Given the description of an element on the screen output the (x, y) to click on. 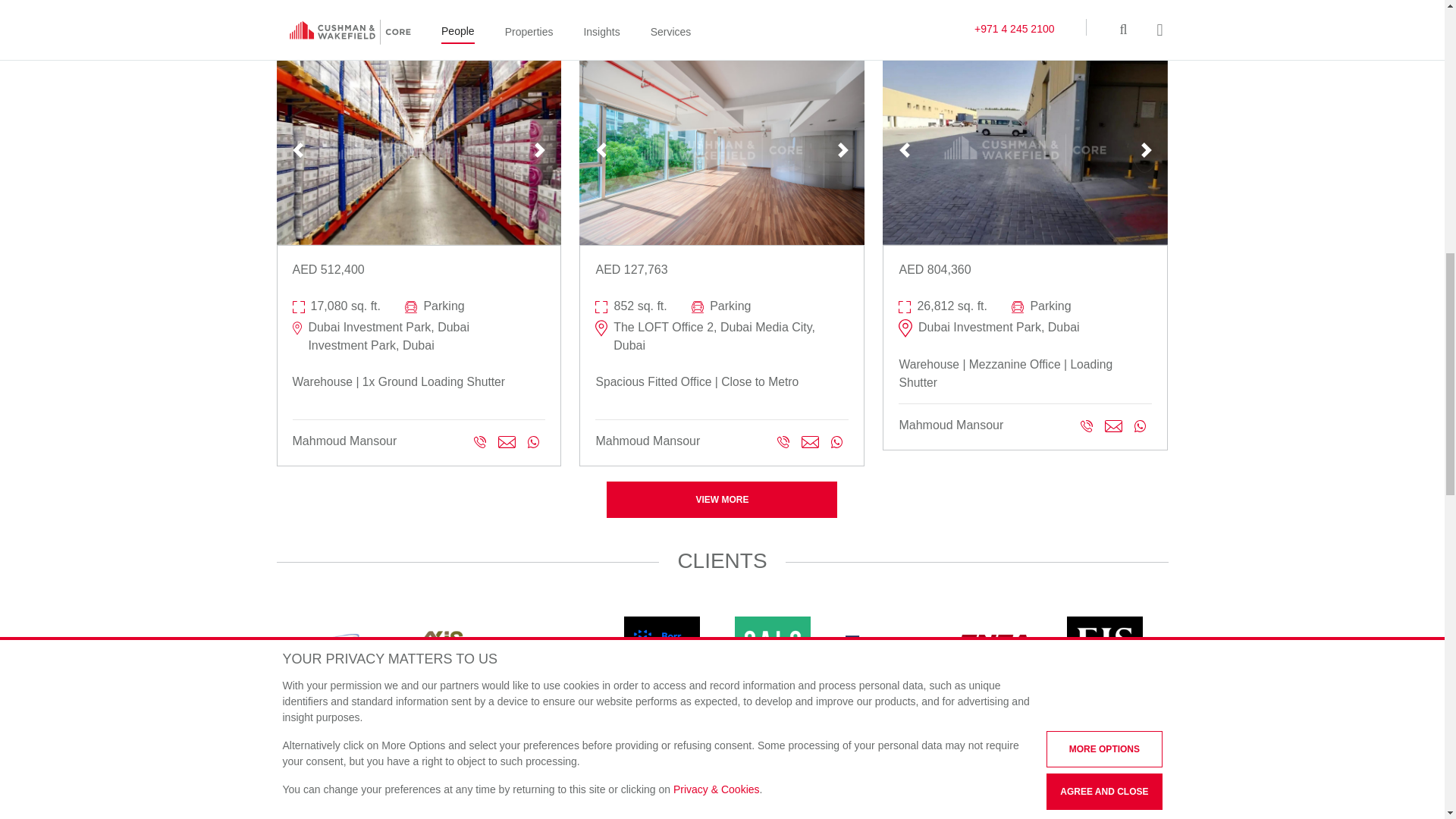
Freight Investor Services (1103, 641)
ENEA (992, 641)
Bespin Global (550, 641)
MarsGo (328, 803)
GRENKE (550, 726)
Dr. Georges Ziade Clinic (882, 641)
Leica (992, 726)
Integraheat (771, 726)
LONGi Solar (1103, 726)
AXIS Insurance Brokers (439, 641)
CALO (771, 641)
NeftLink (439, 803)
AviaAM Leasing (328, 641)
Happy Dolphin Pets (660, 726)
Borr Drilling (660, 641)
